Given the description of an element on the screen output the (x, y) to click on. 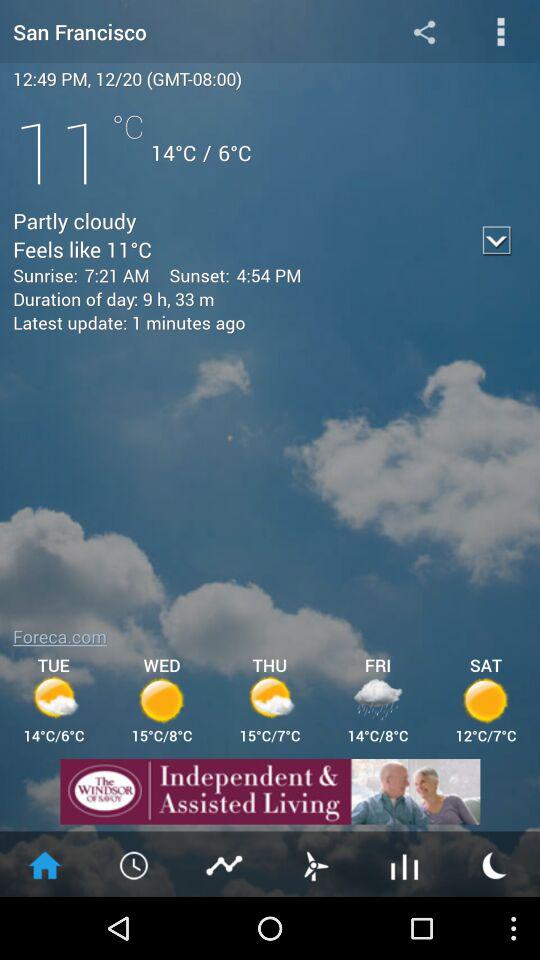
moon (495, 864)
